Given the description of an element on the screen output the (x, y) to click on. 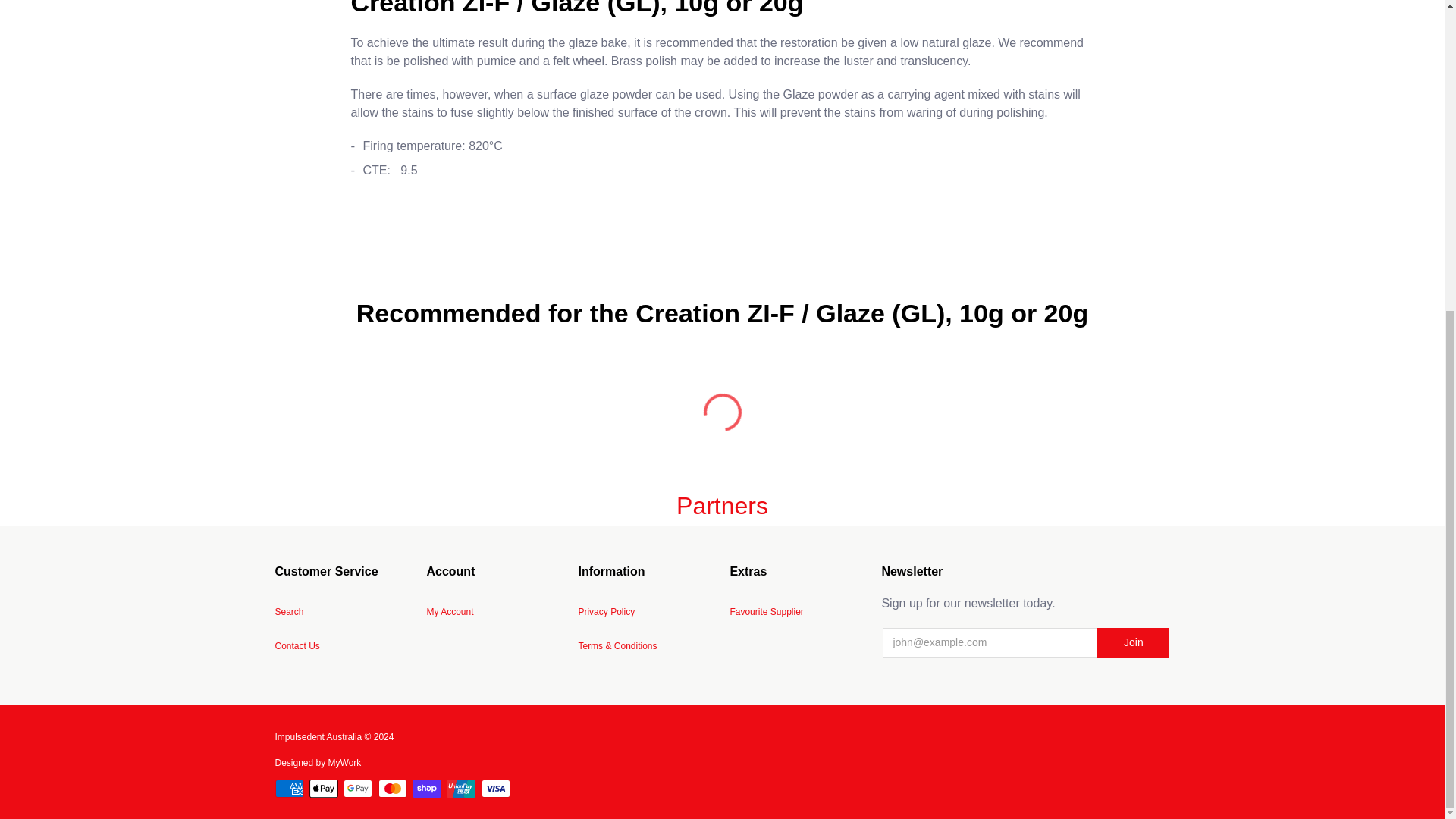
American Express (288, 788)
Union Pay (461, 788)
Join (1133, 643)
Visa (496, 788)
Apple Pay (322, 788)
Shop Pay (426, 788)
Mastercard (392, 788)
Google Pay (357, 788)
